Given the description of an element on the screen output the (x, y) to click on. 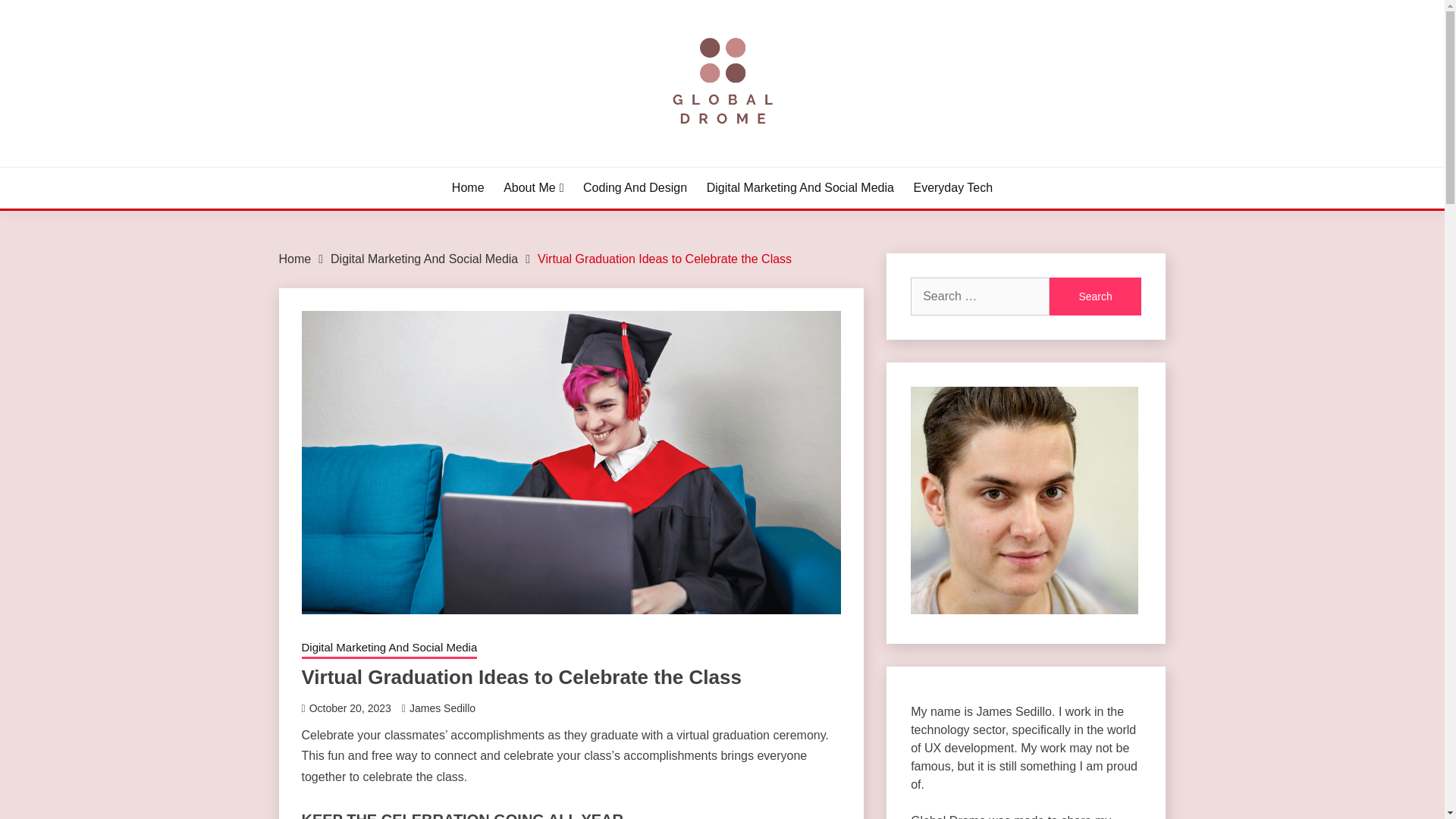
Search (1095, 296)
Everyday Tech (952, 188)
Digital Marketing And Social Media (424, 258)
Coding And Design (635, 188)
Home (295, 258)
Home (467, 188)
About Me (533, 188)
Digital Marketing And Social Media (389, 649)
James Sedillo (442, 707)
October 20, 2023 (349, 707)
